Given the description of an element on the screen output the (x, y) to click on. 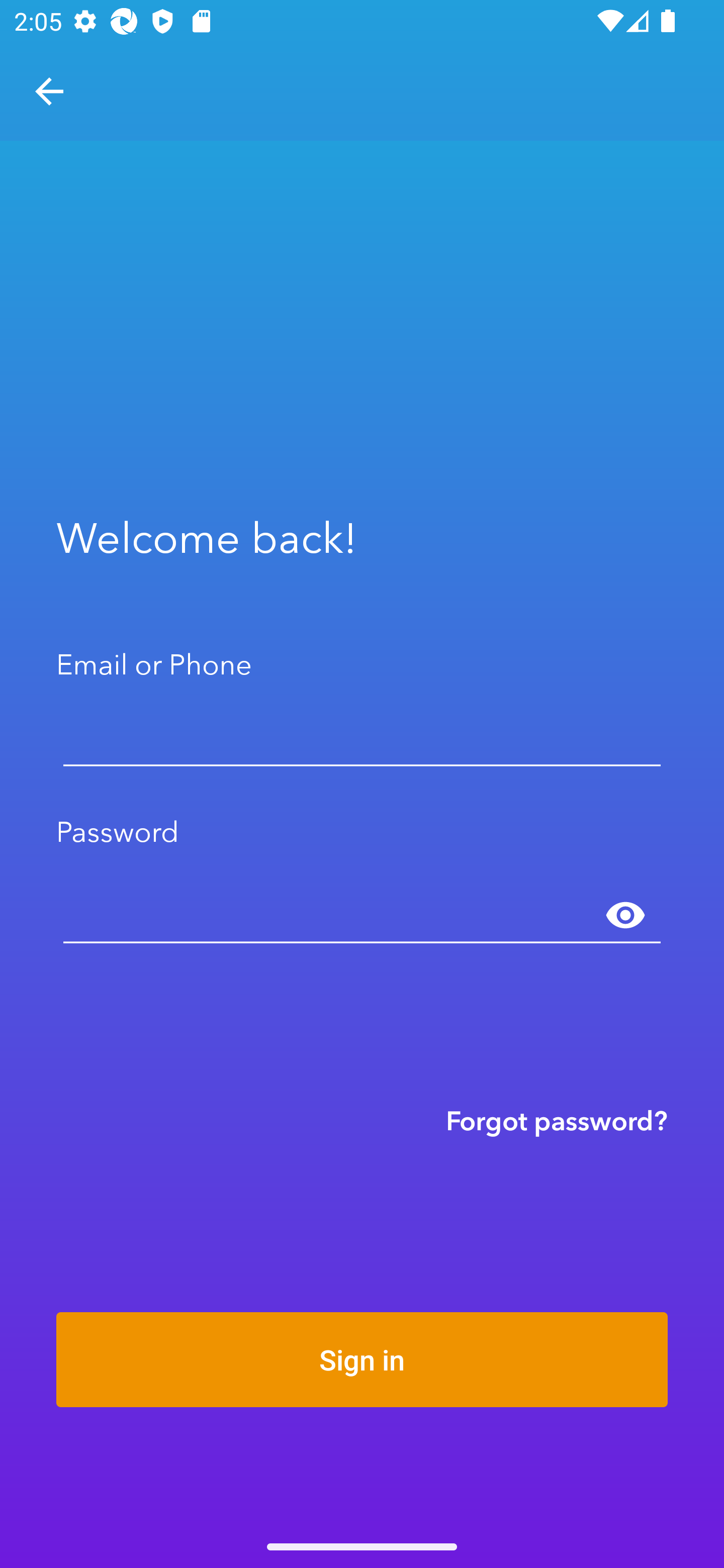
Navigate up (49, 91)
Show password (625, 915)
Forgot password? (556, 1119)
Sign in (361, 1359)
